Given the description of an element on the screen output the (x, y) to click on. 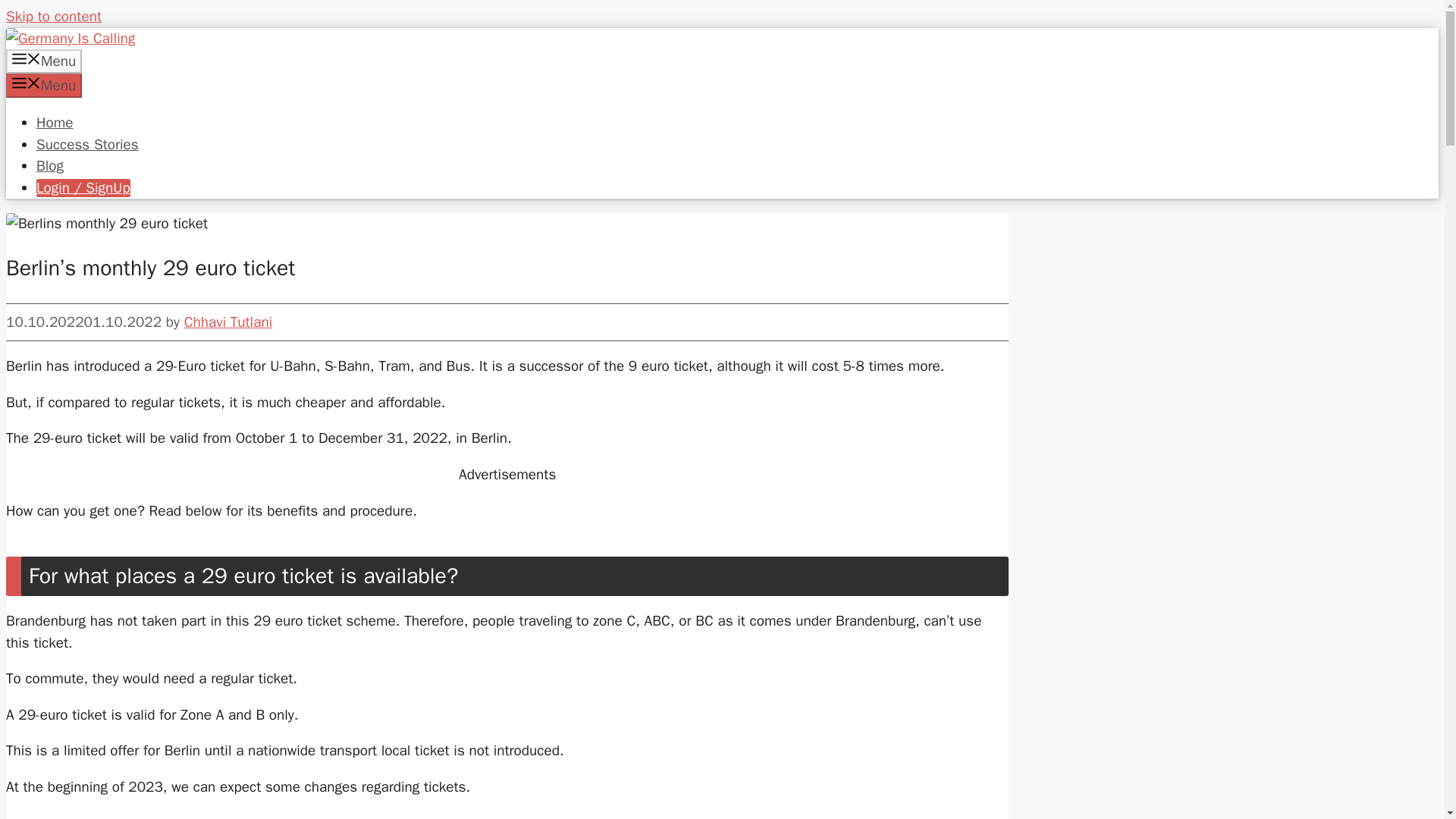
Skip to content (53, 16)
Skip to content (53, 16)
Menu (43, 61)
View all posts by Chhavi Tutlani (228, 321)
Menu (43, 85)
Chhavi Tutlani (228, 321)
Blog (50, 166)
Success Stories (87, 144)
Home (55, 122)
